Given the description of an element on the screen output the (x, y) to click on. 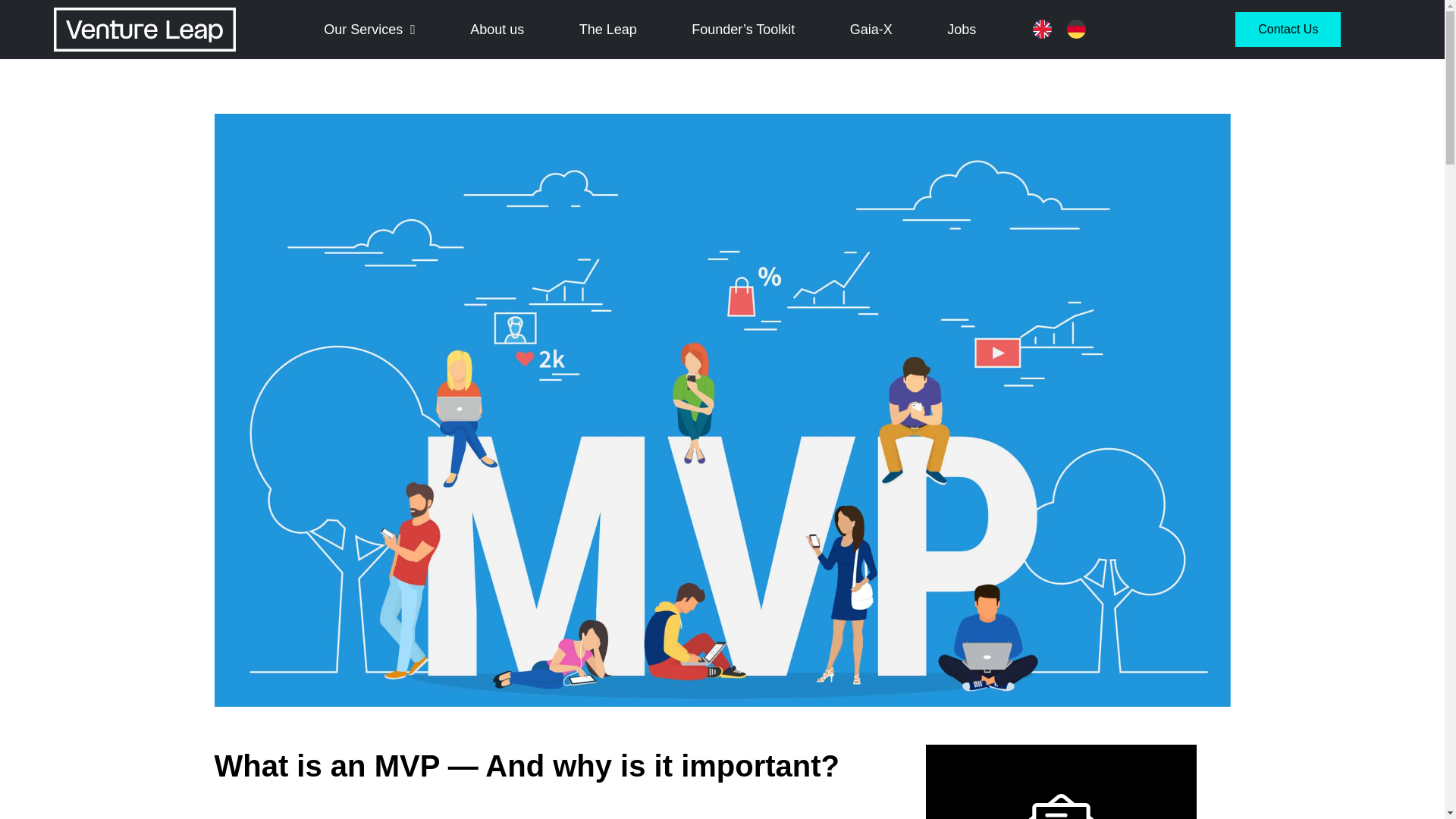
Our Services (369, 29)
Gaia-X (871, 29)
About us (496, 29)
Jobs (961, 29)
The Leap (608, 29)
